Given the description of an element on the screen output the (x, y) to click on. 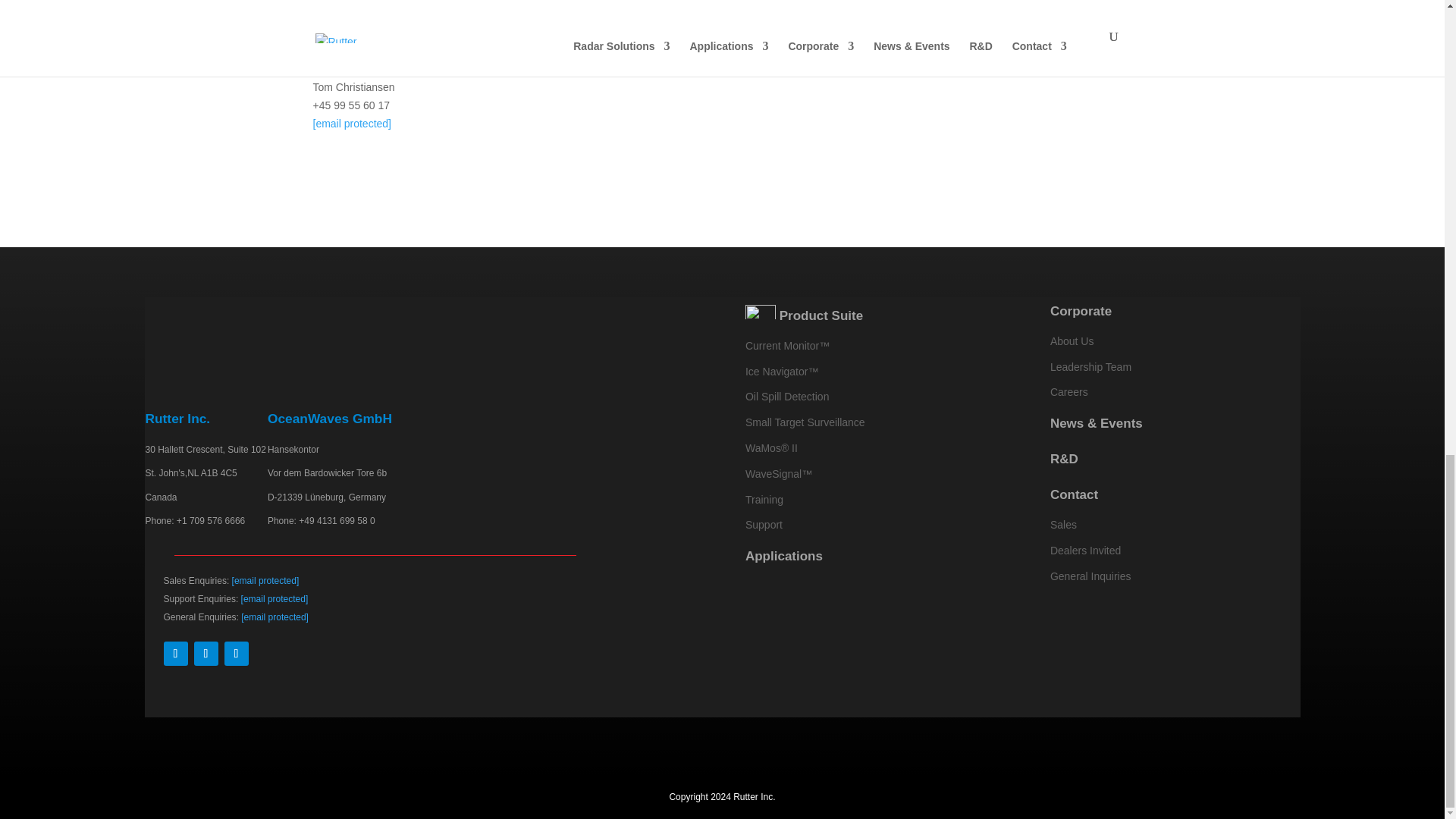
Follow on LinkedIn (205, 653)
Follow on Facebook (175, 653)
Follow on X (236, 653)
